Given the description of an element on the screen output the (x, y) to click on. 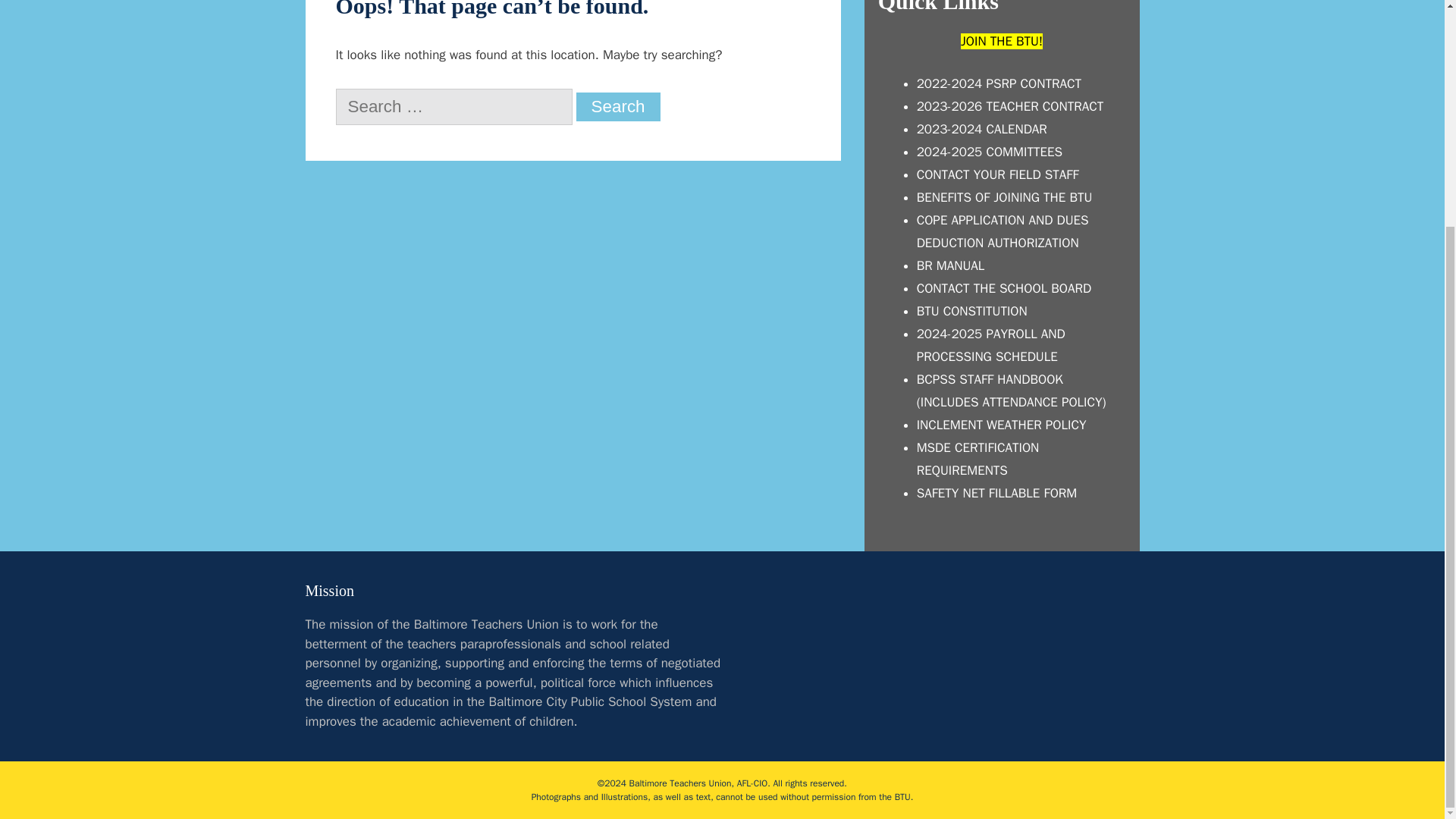
Search (618, 106)
Search (618, 106)
Search for: (453, 106)
